Given the description of an element on the screen output the (x, y) to click on. 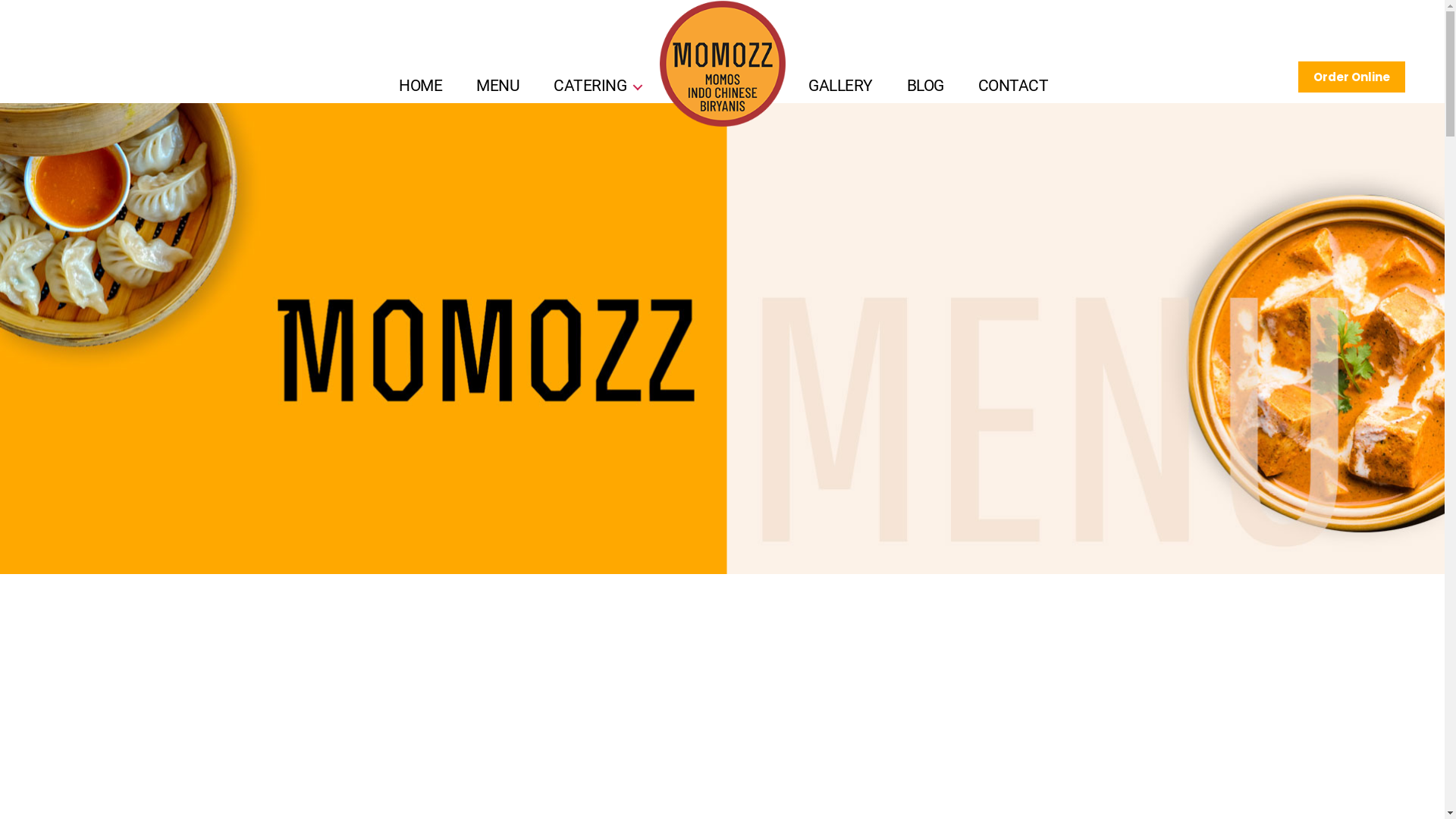
CONTACT Element type: text (1012, 86)
Order Online Element type: text (1351, 76)
BLOG Element type: text (924, 86)
GALLERY Element type: text (848, 86)
CATERING Element type: text (672, 86)
HOME Element type: text (420, 86)
MENU Element type: text (497, 86)
